Given the description of an element on the screen output the (x, y) to click on. 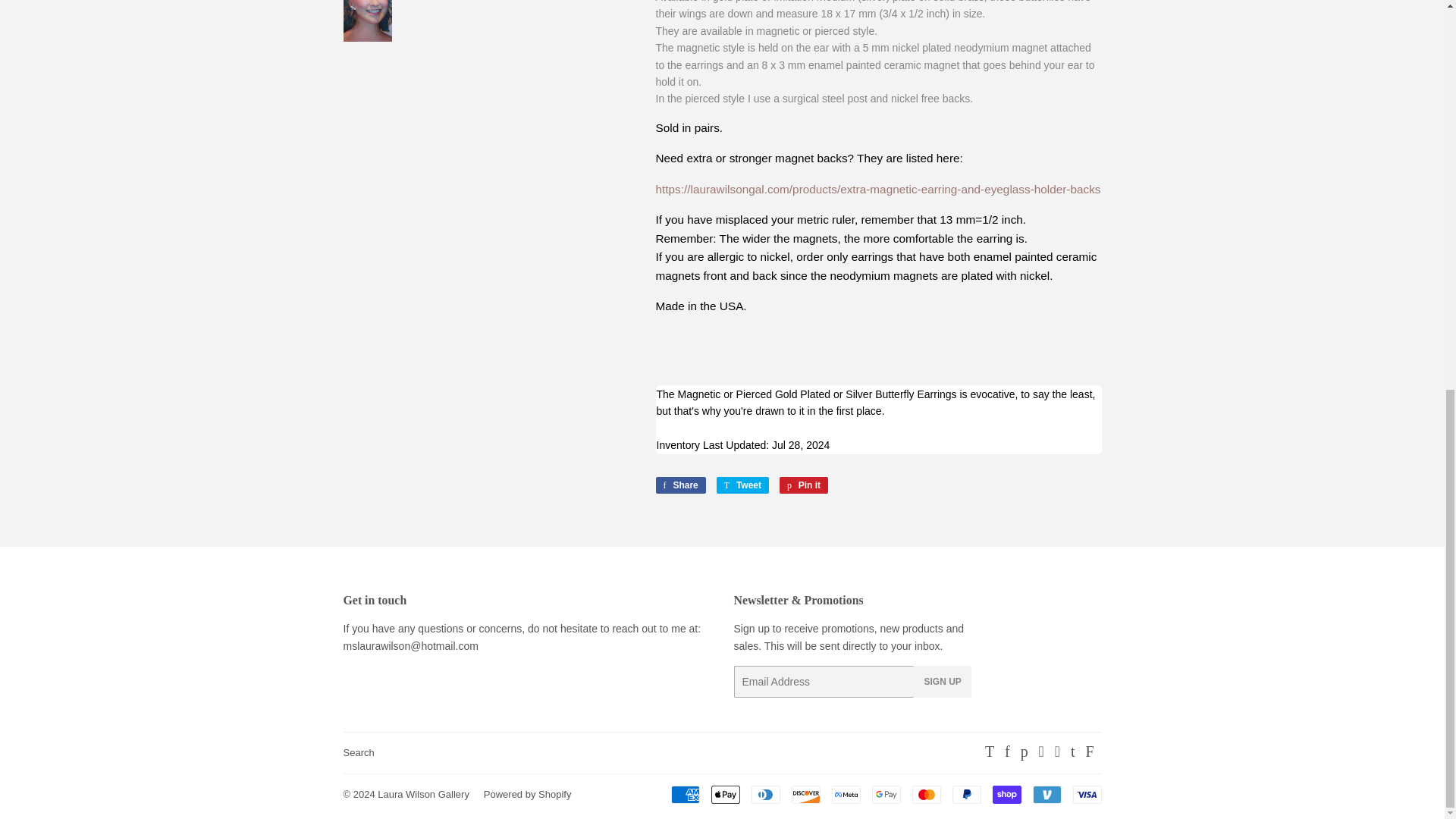
Meta Pay (845, 794)
Google Pay (886, 794)
American Express (683, 794)
Laura Wilson Gallery  on Instagram (1056, 752)
Laura Wilson Gallery  on Pinterest (1023, 752)
Laura Wilson Gallery  on Twitter (989, 752)
Tweet on Twitter (742, 484)
Laura Wilson Gallery  on Google (1041, 752)
Share on Facebook (679, 484)
Laura Wilson Gallery  on Facebook (1007, 752)
Mastercard (925, 794)
Shop Pay (1005, 794)
PayPal (966, 794)
Discover (806, 794)
Pin on Pinterest (803, 484)
